Given the description of an element on the screen output the (x, y) to click on. 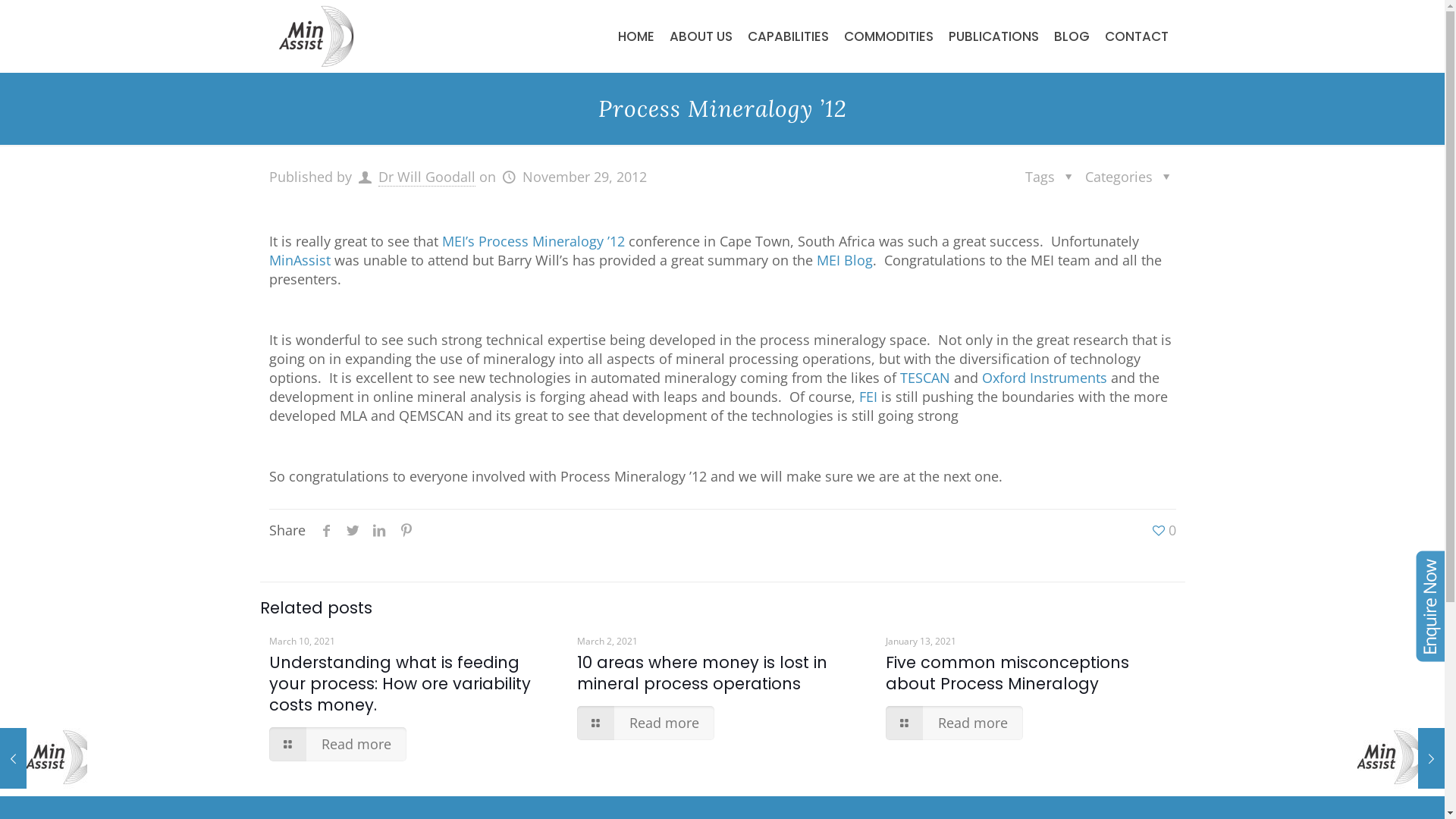
MinAssist Element type: text (299, 260)
CONTACT Element type: text (1135, 36)
Read more Element type: text (645, 723)
COMMODITIES Element type: text (887, 36)
HOME Element type: text (635, 36)
CAPABILITIES Element type: text (788, 36)
FEI Element type: text (868, 396)
SEND Element type: text (540, 381)
TESCAN Element type: text (925, 377)
PUBLICATIONS Element type: text (992, 36)
Dr Will Goodall Element type: text (426, 176)
10 areas where money is lost in mineral process operations Element type: text (702, 672)
BLOG Element type: text (1071, 36)
ABOUT US Element type: text (700, 36)
MEI Blog Element type: text (844, 260)
Oxford Instruments Element type: text (1044, 377)
Read more Element type: text (336, 744)
Send Request Element type: text (489, 406)
0 Element type: text (1162, 529)
Read more Element type: text (953, 723)
MinAssist Element type: hover (314, 36)
Five common misconceptions about Process Mineralogy Element type: text (1007, 672)
